Given the description of an element on the screen output the (x, y) to click on. 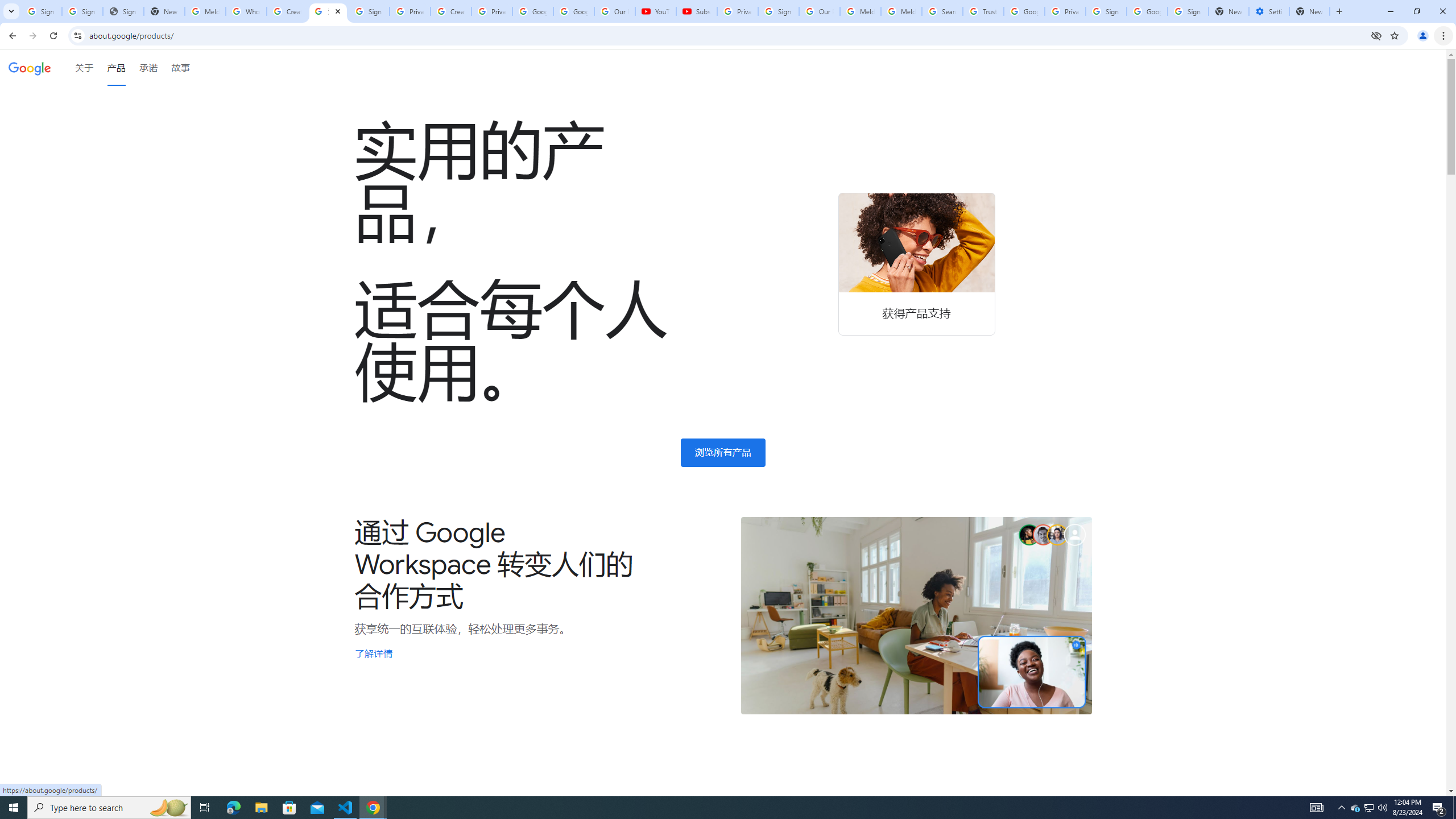
Back (10, 35)
Sign in - Google Accounts (41, 11)
Create your Google Account (450, 11)
Sign in - Google Accounts (1187, 11)
Third-party cookies blocked (1376, 35)
Create your Google Account (287, 11)
Who is my administrator? - Google Account Help (246, 11)
